Given the description of an element on the screen output the (x, y) to click on. 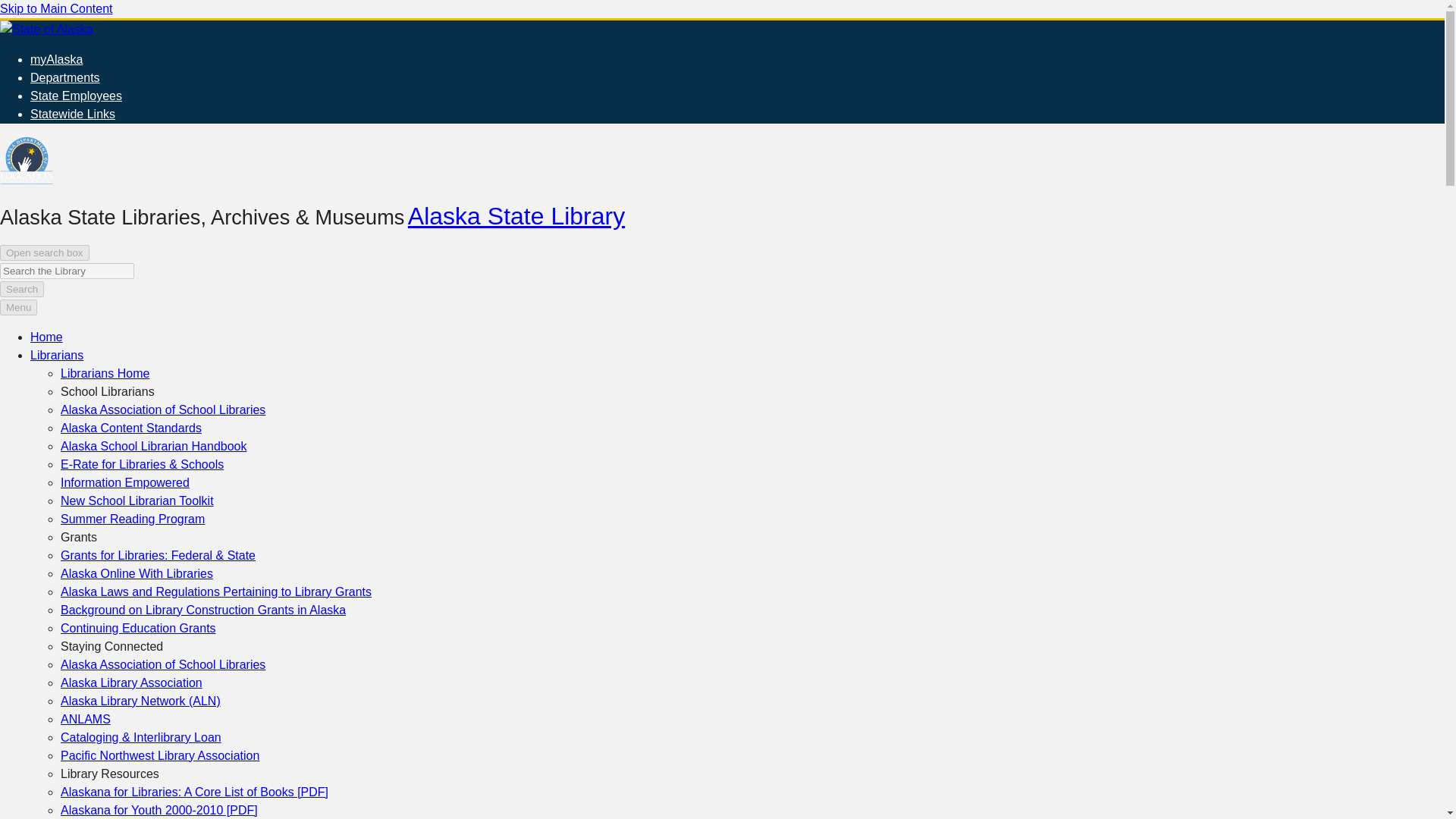
myAlaska (56, 59)
Alaska School Librarian Handbook (153, 445)
State Employees (76, 95)
Skip to Main Content (56, 8)
Alaska Laws and Regulations Pertaining to Library Grants (216, 591)
New School Librarian Toolkit (137, 500)
Alaska Online With Libraries (136, 573)
Open search box (44, 252)
Alaska State Library (515, 216)
Menu (18, 307)
Alaska Library Association (131, 682)
Alaska Content Standards (131, 427)
Continuing Education Grants (138, 627)
Alaska Association of School Libraries (162, 409)
Background on Library Construction Grants in Alaska (203, 609)
